Given the description of an element on the screen output the (x, y) to click on. 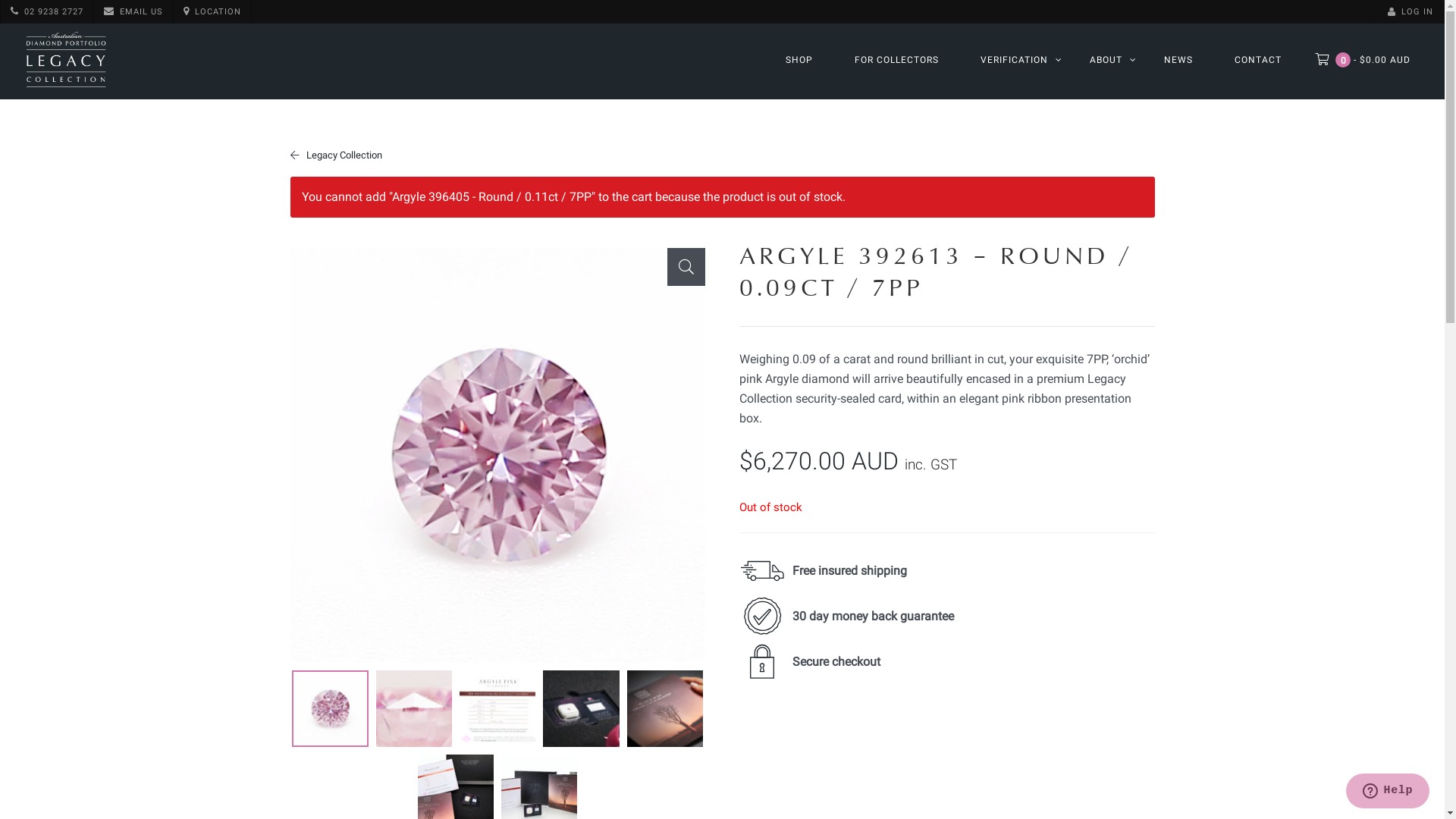
SHOP Element type: text (799, 59)
VERIFICATION Element type: text (1014, 59)
ARG392613_e_primary Element type: hover (496, 454)
CONTACT Element type: text (1257, 59)
02 9238 2727 Element type: text (46, 11)
LOG IN Element type: text (1410, 11)
FOR COLLECTORS Element type: text (896, 59)
Legacy Collection Element type: text (335, 154)
LOCATION Element type: text (212, 11)
NEWS Element type: text (1178, 59)
Opens a widget where you can chat to one of our agents Element type: hover (1387, 792)
0
- $0.00 AUD Element type: text (1362, 58)
ABOUT Element type: text (1106, 59)
EMAIL US Element type: text (133, 11)
